Given the description of an element on the screen output the (x, y) to click on. 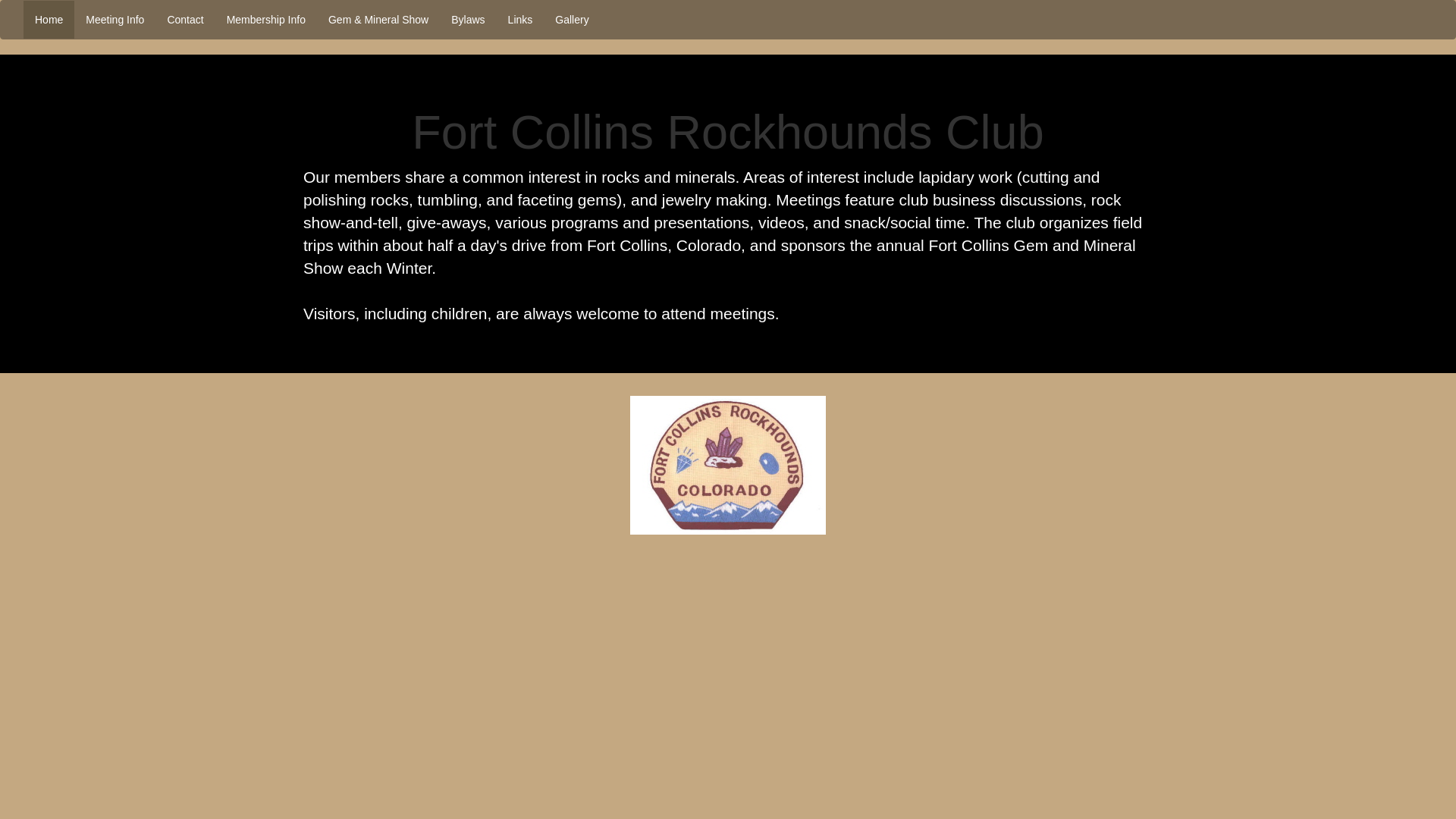
Membership Info (266, 19)
Meeting Info (114, 19)
Gallery (571, 19)
Contact (184, 19)
Links (520, 19)
Bylaws (467, 19)
